Given the description of an element on the screen output the (x, y) to click on. 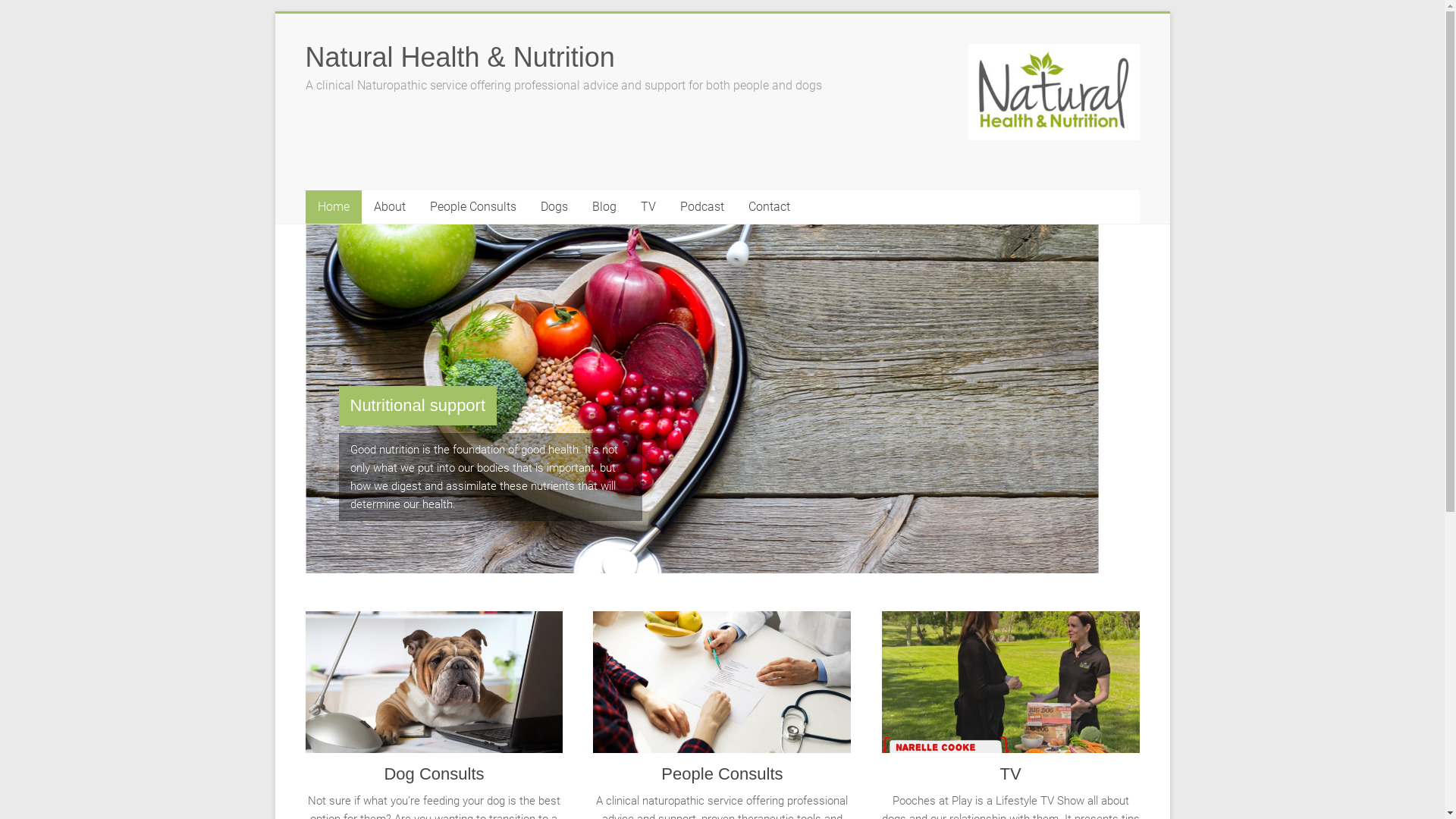
About Element type: text (388, 206)
TV Element type: text (647, 206)
Dog Consults Element type: text (433, 773)
Dogs Element type: text (553, 206)
Blog Element type: text (603, 206)
Dog Consults Element type: hover (433, 687)
People Consults Element type: hover (721, 687)
Contact Element type: text (768, 206)
Podcast Element type: text (701, 206)
Natural Health & Nutrition Element type: text (459, 56)
TV Element type: hover (1010, 687)
Nutritional support Element type: text (417, 405)
TV Element type: text (1009, 773)
Skip to content Element type: text (274, 12)
People Consults Element type: text (721, 773)
People Consults Element type: text (472, 206)
Home Element type: text (332, 206)
